Given the description of an element on the screen output the (x, y) to click on. 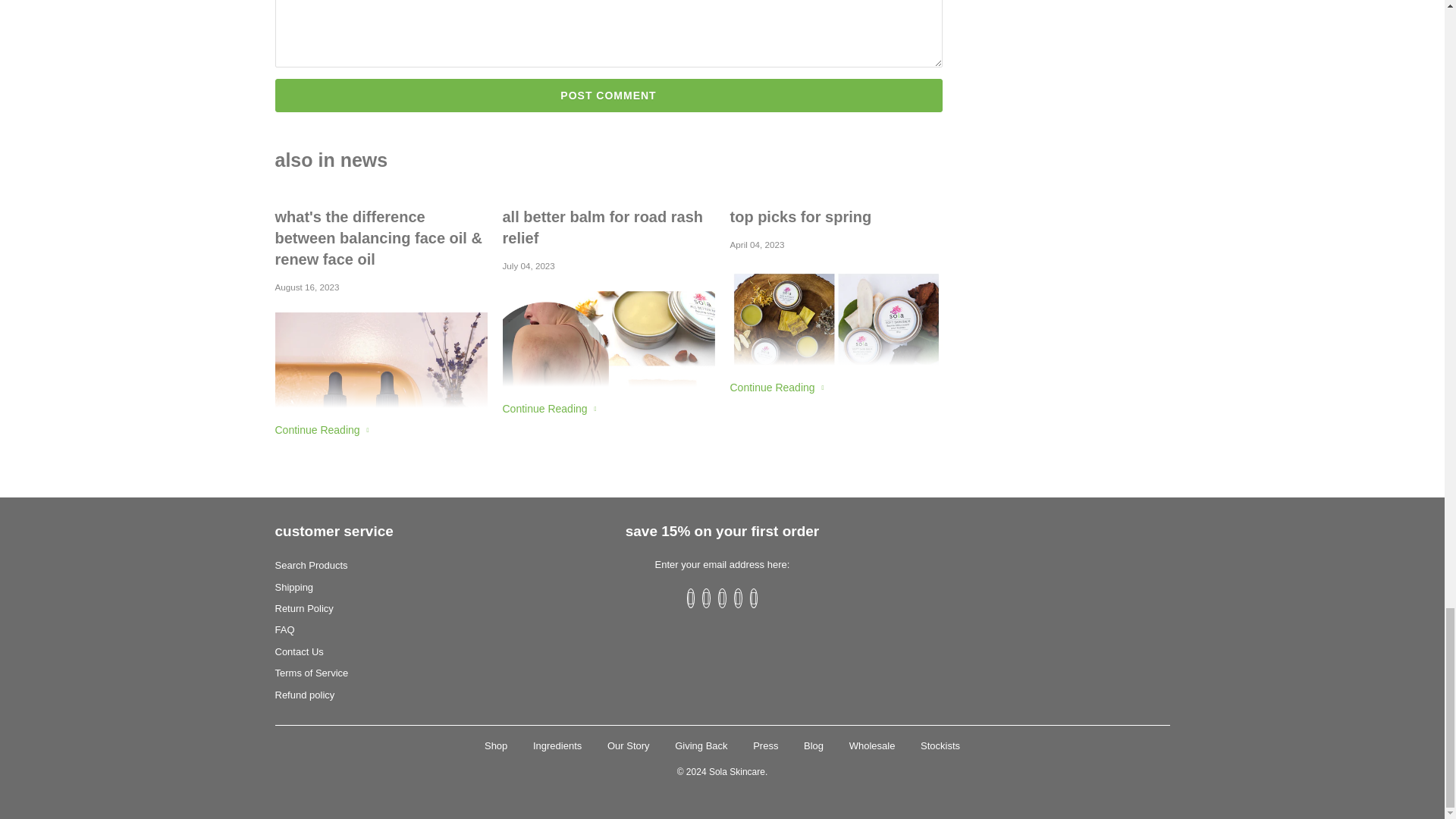
top picks for spring (835, 216)
Continue Reading (321, 429)
All Better Balm for road rash relief (548, 408)
Post comment (608, 95)
Post comment (608, 95)
Top Picks for Spring (776, 387)
All Better Balm for road rash relief (608, 227)
Continue Reading (548, 408)
Continue Reading (776, 387)
Top Picks for Spring (835, 216)
